Given the description of an element on the screen output the (x, y) to click on. 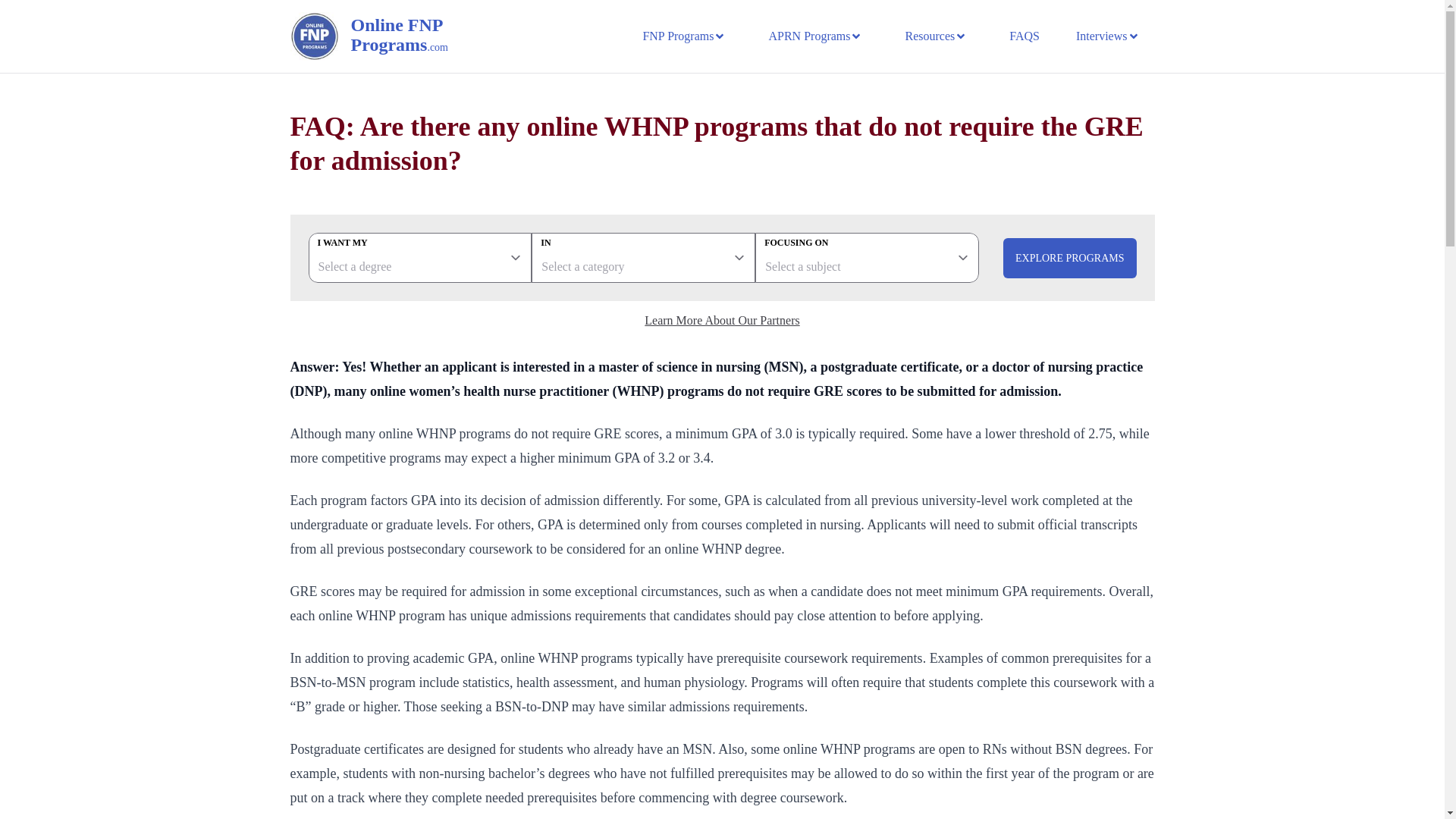
Resources (935, 36)
APRN Programs (814, 36)
FNP Programs (684, 36)
Online FNP Programs.com (418, 35)
FAQS (1024, 36)
